Given the description of an element on the screen output the (x, y) to click on. 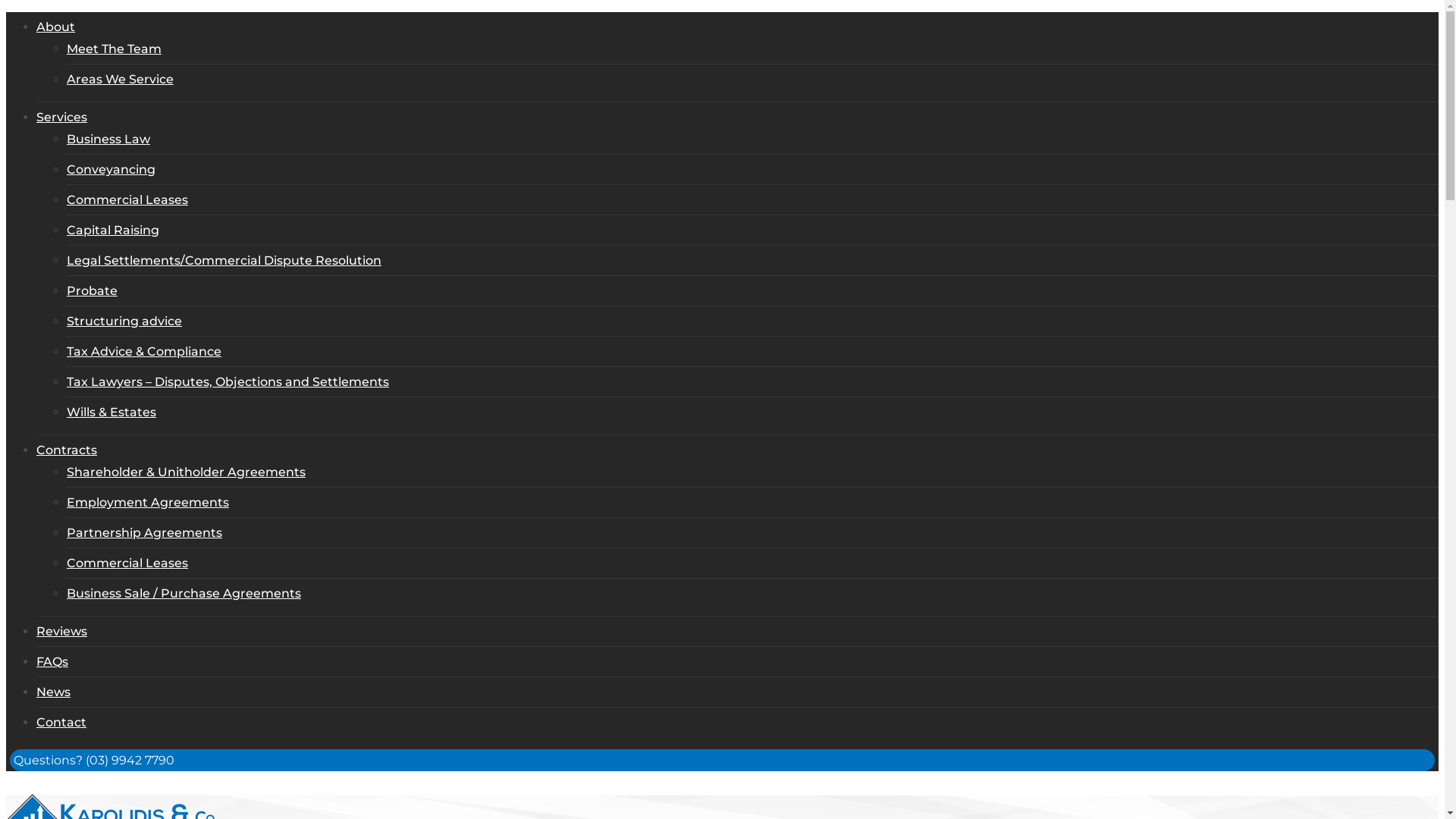
About Element type: text (55, 26)
Services Element type: text (61, 116)
Areas We Service Element type: text (119, 79)
Contact Element type: text (61, 722)
Business Law Element type: text (108, 138)
Tax Advice & Compliance Element type: text (143, 351)
Employment Agreements Element type: text (147, 502)
Commercial Leases Element type: text (127, 199)
News Element type: text (53, 691)
Business Sale / Purchase Agreements Element type: text (183, 593)
Contracts Element type: text (66, 449)
Shareholder & Unitholder Agreements Element type: text (185, 471)
Partnership Agreements Element type: text (144, 532)
Probate Element type: text (91, 290)
Capital Raising Element type: text (112, 229)
FAQs Element type: text (52, 661)
Commercial Leases Element type: text (127, 562)
Legal Settlements/Commercial Dispute Resolution Element type: text (223, 260)
Structuring advice Element type: text (124, 320)
Meet The Team Element type: text (113, 48)
Conveyancing Element type: text (110, 169)
Reviews Element type: text (61, 631)
Wills & Estates Element type: text (111, 411)
